Given the description of an element on the screen output the (x, y) to click on. 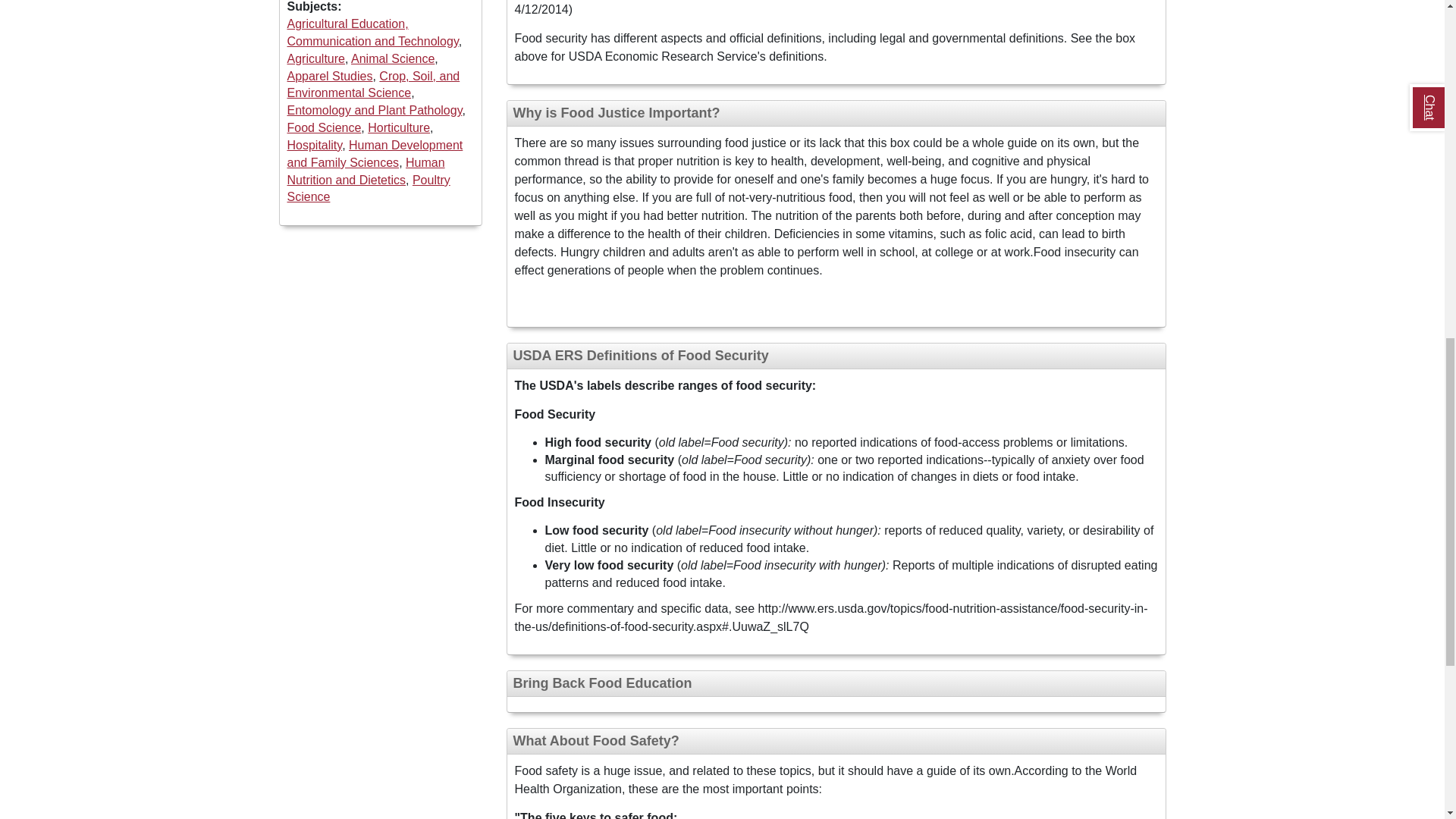
Animal Science (391, 58)
Agricultural Education, Communication and Technology (372, 32)
Agriculture (314, 58)
